Given the description of an element on the screen output the (x, y) to click on. 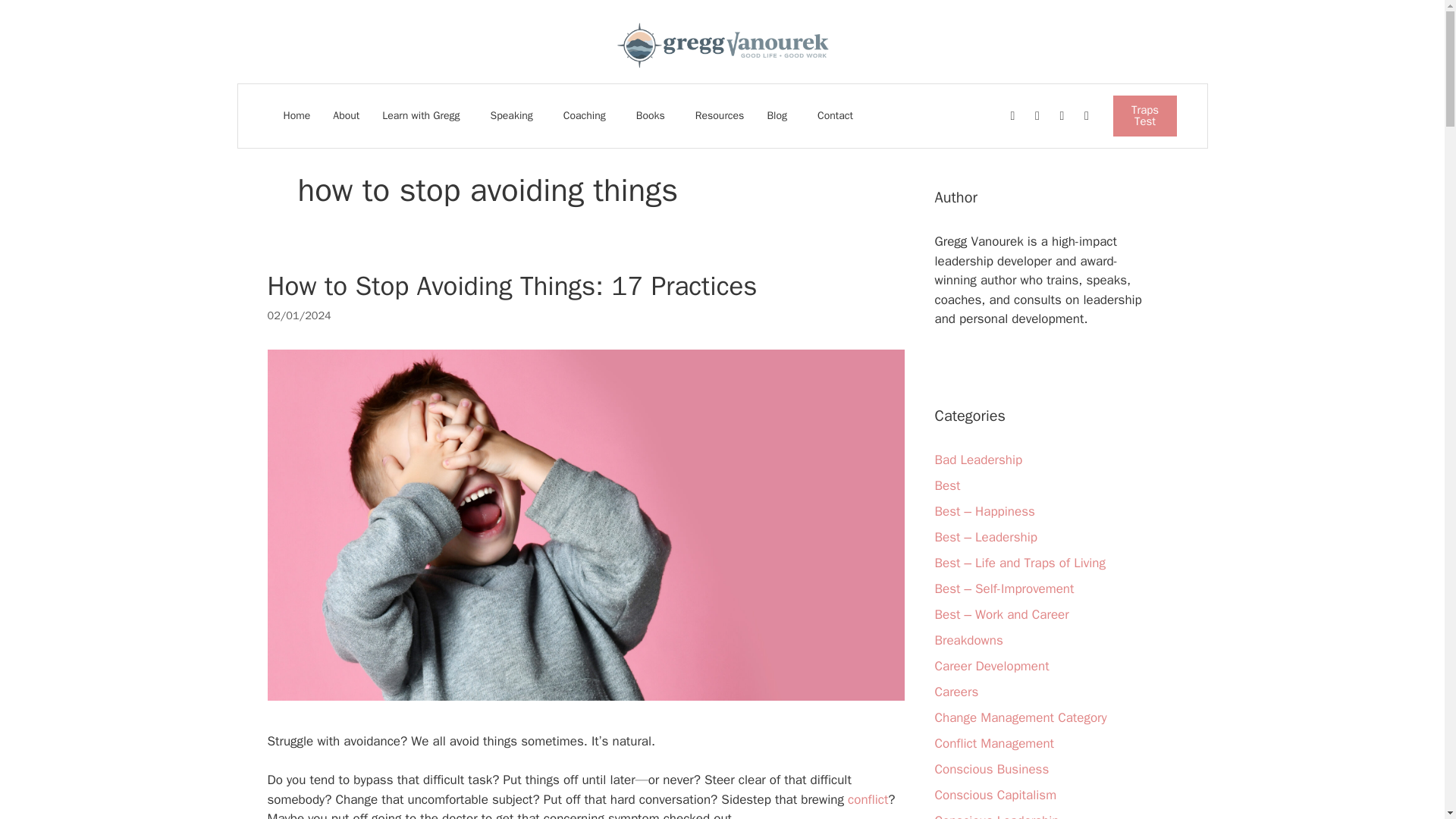
Resources (719, 115)
Blog (780, 115)
Books (654, 115)
Contact (834, 115)
Speaking (516, 115)
Learn with Gregg (423, 115)
Home (296, 115)
About (345, 115)
Coaching (588, 115)
